Given the description of an element on the screen output the (x, y) to click on. 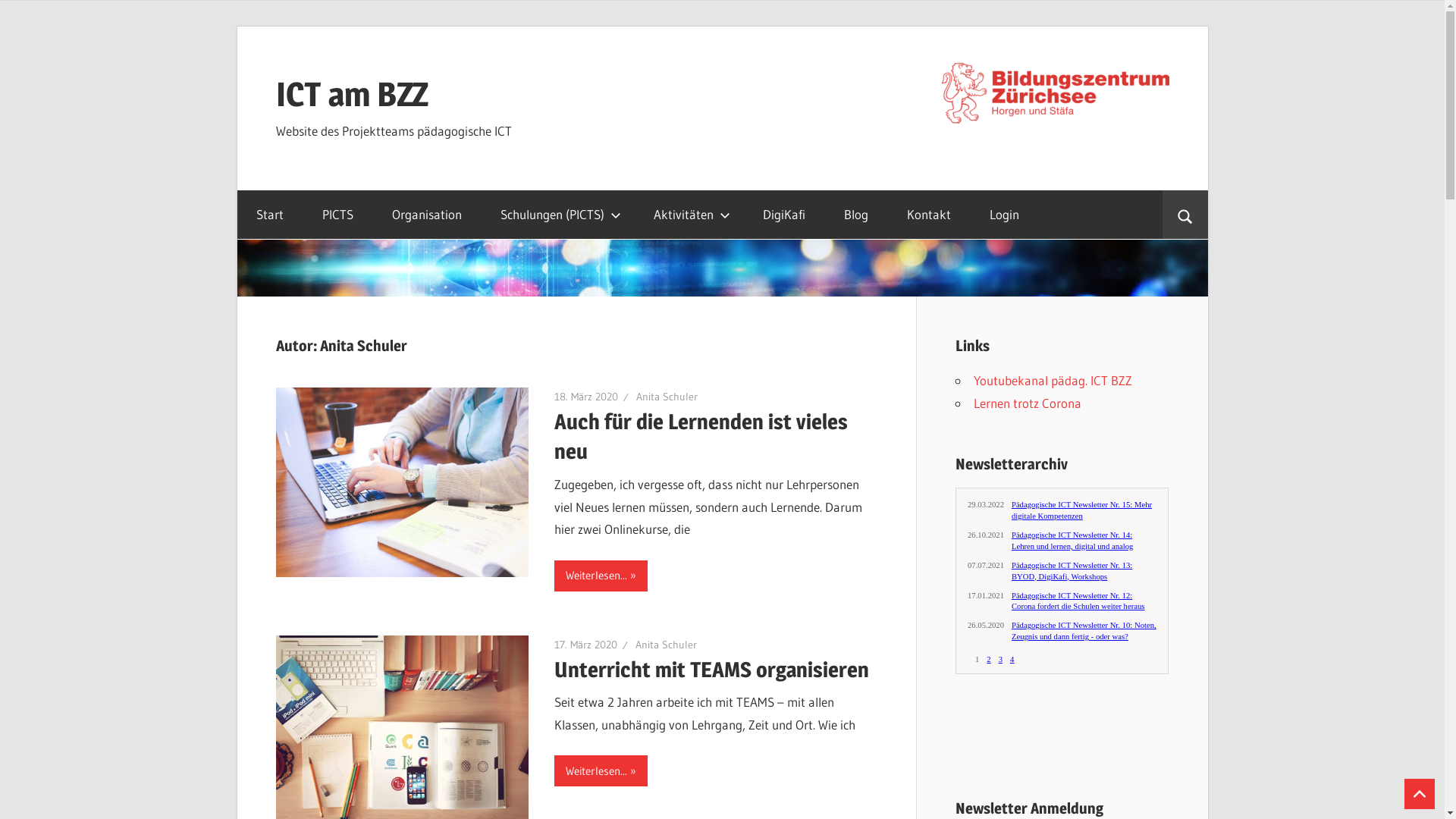
Schulungen (PICTS) Element type: text (556, 214)
ICT am BZZ Element type: text (351, 93)
Unterricht mit TEAMS organisieren Element type: text (711, 669)
Suche Element type: text (1184, 214)
Kontakt Element type: text (928, 214)
Login Element type: text (1004, 214)
Zum Inhalt springen Element type: text (236, 25)
Anita Schuler Element type: text (666, 396)
Anita Schuler Element type: text (665, 644)
PICTS Element type: text (338, 214)
Weiterlesen... Element type: text (600, 575)
Weiterlesen... Element type: text (600, 770)
DigiKafi Element type: text (783, 214)
Blog Element type: text (856, 214)
Lernen trotz Corona Element type: text (1027, 403)
Organisation Element type: text (427, 214)
Start Element type: text (269, 214)
